Given the description of an element on the screen output the (x, y) to click on. 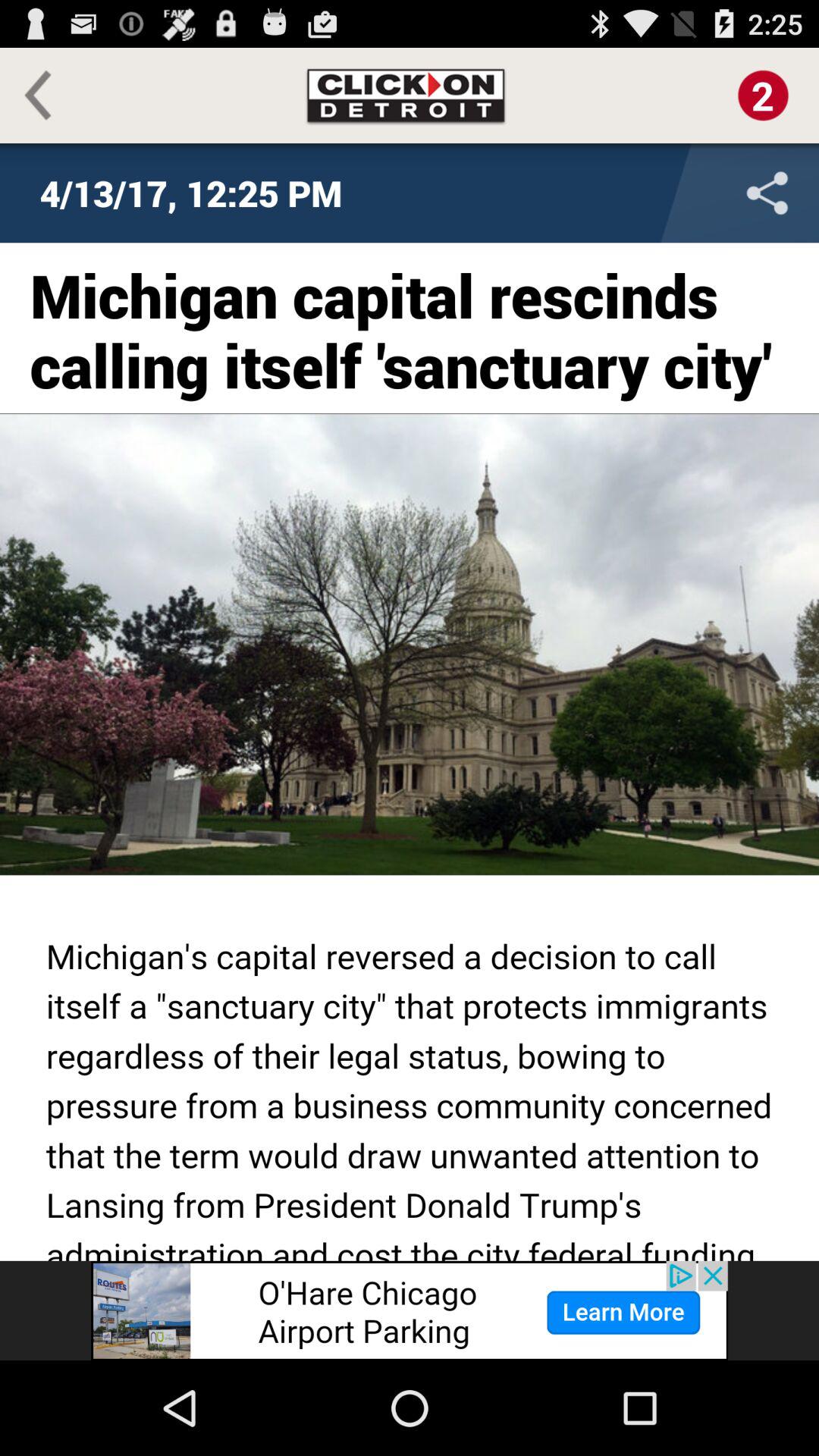
view advertisement (409, 1310)
